Given the description of an element on the screen output the (x, y) to click on. 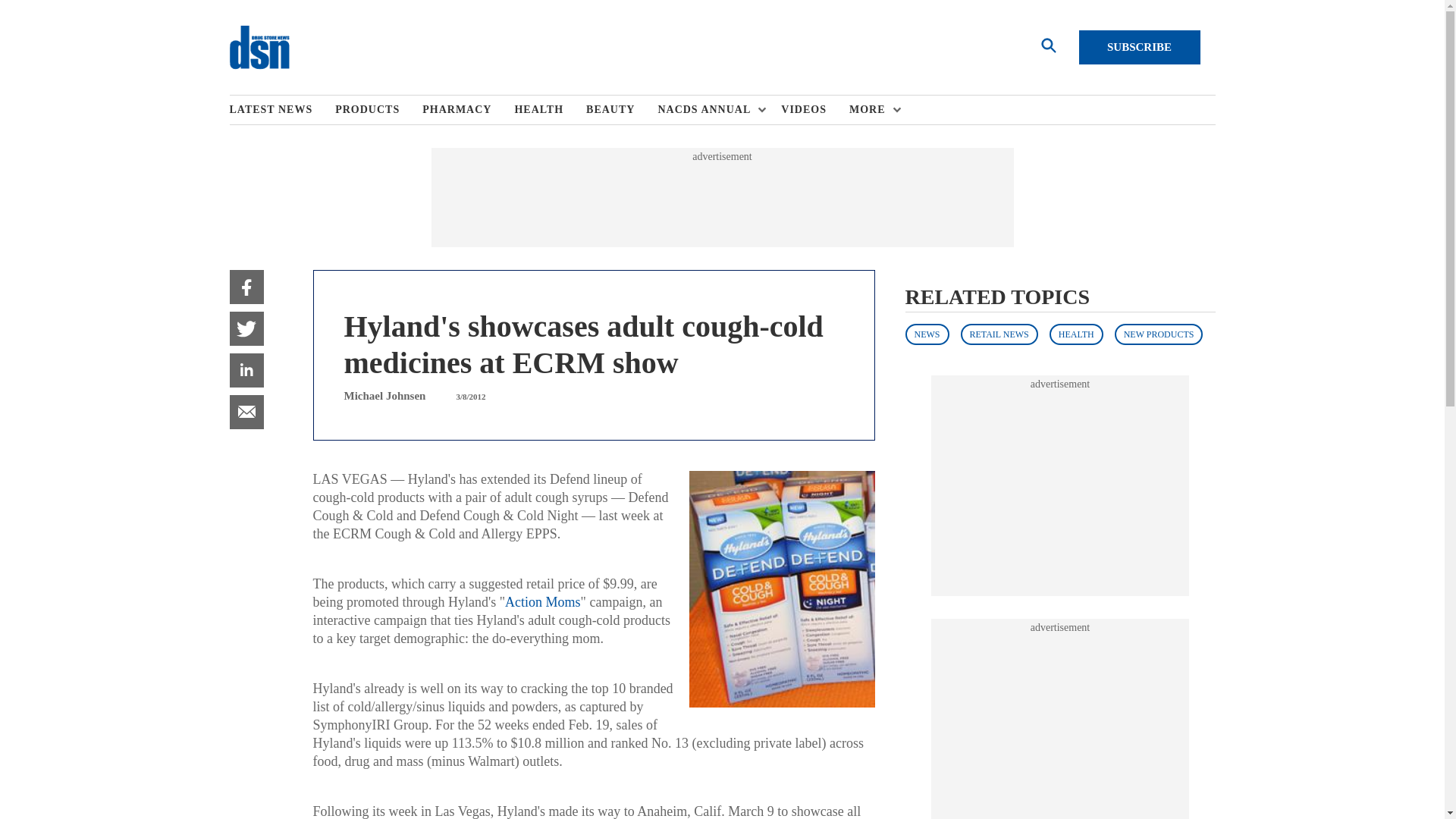
PRODUCTS (378, 109)
twitter (245, 328)
email (245, 411)
NEWS (927, 333)
facebook (245, 286)
NEW PRODUCTS (1159, 333)
facebook (245, 286)
NACDS ANNUAL (708, 109)
MORE (870, 109)
BEAUTY (622, 109)
PHARMACY (467, 109)
3rd party ad content (1059, 726)
HEALTH (1076, 333)
VIDEOS (814, 109)
SUBSCRIBE (1138, 47)
